Given the description of an element on the screen output the (x, y) to click on. 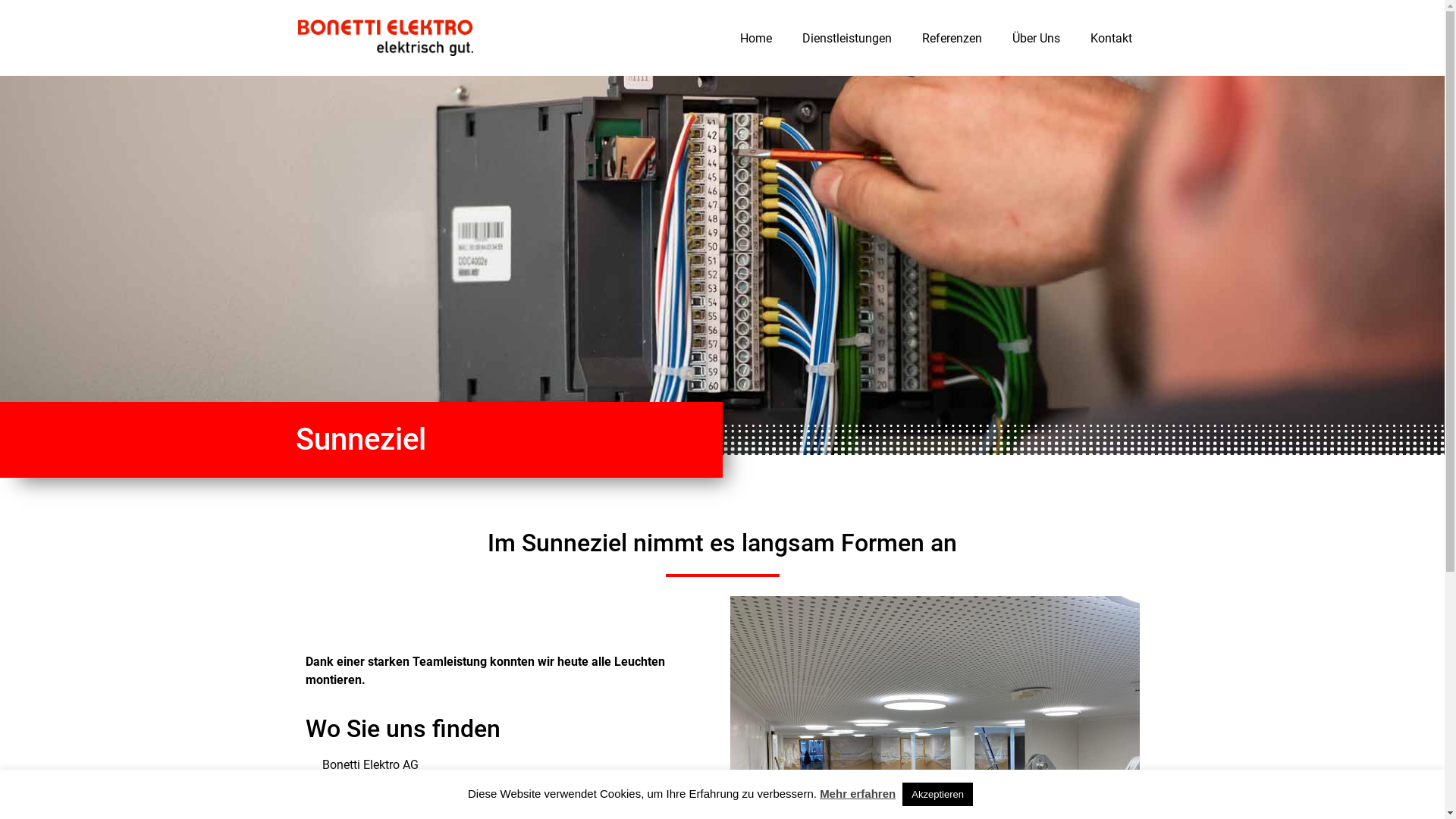
Kontakt Element type: text (1111, 37)
Dienstleistungen Element type: text (846, 37)
Akzeptieren Element type: text (937, 794)
Home Element type: text (755, 37)
Referenzen Element type: text (951, 37)
Mehr erfahren Element type: text (857, 793)
